Given the description of an element on the screen output the (x, y) to click on. 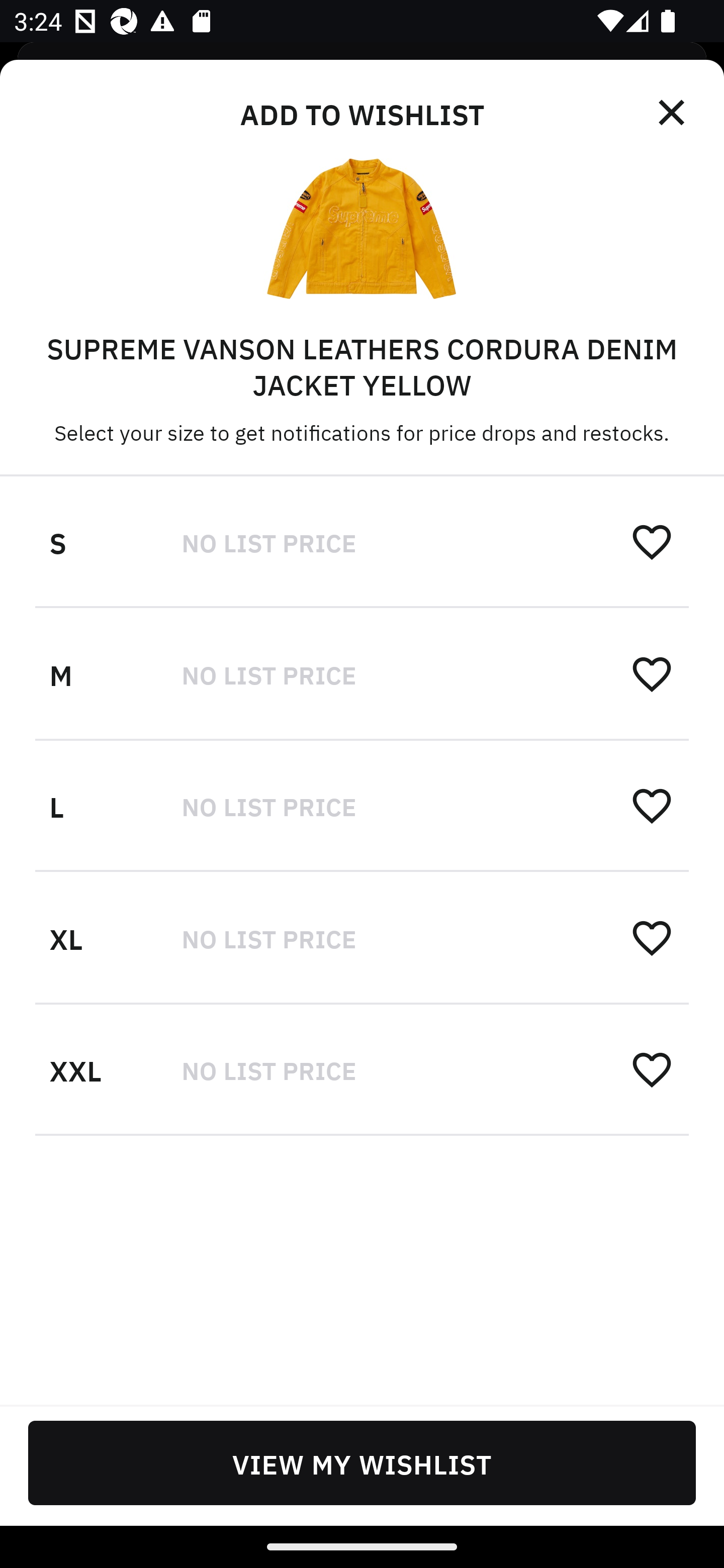
 (672, 112)
󰋕 (651, 541)
󰋕 (651, 673)
󰋕 (651, 804)
󰋕 (651, 936)
󰋕 (651, 1068)
VIEW MY WISHLIST (361, 1462)
